Given the description of an element on the screen output the (x, y) to click on. 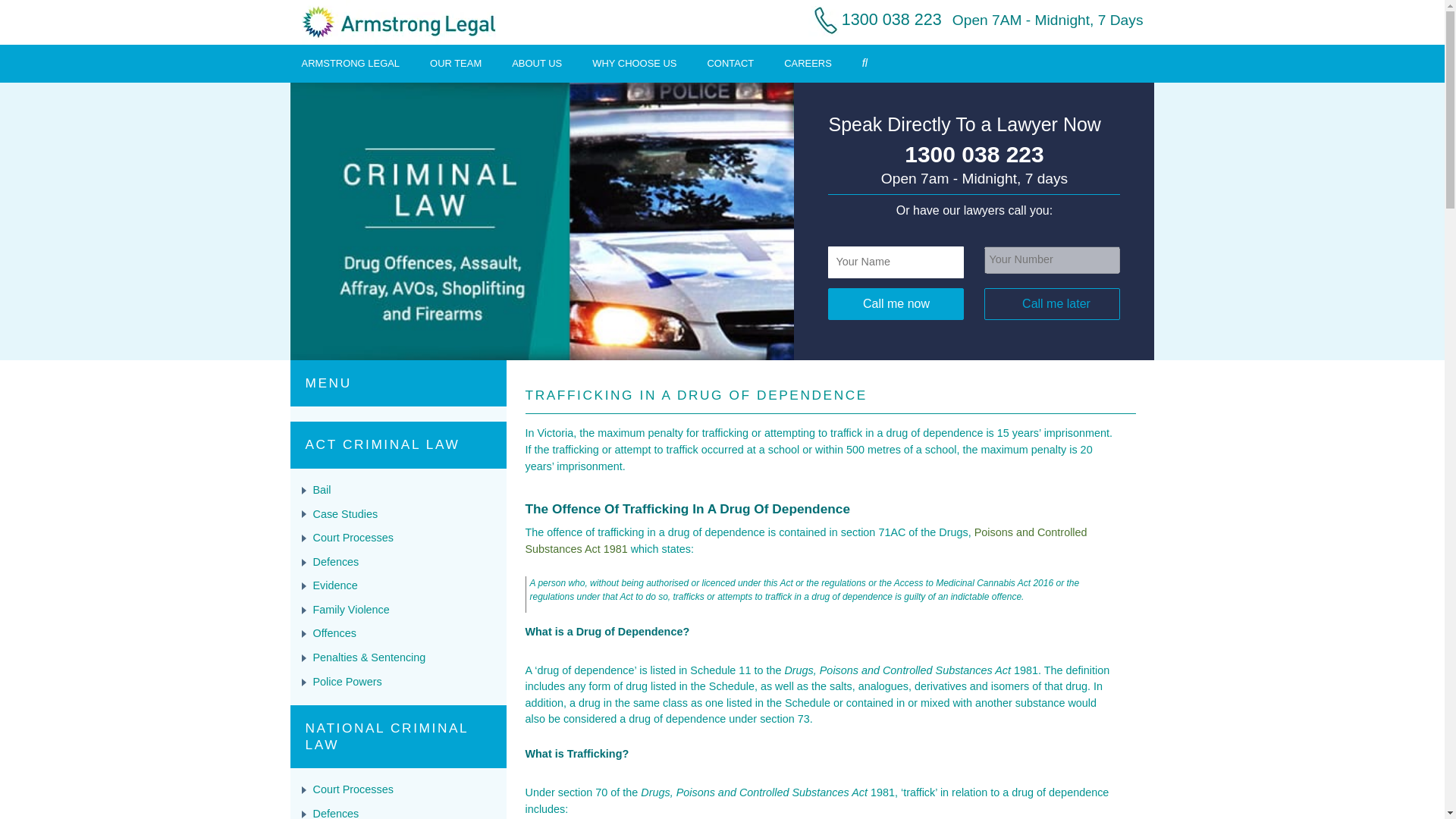
ARMSTRONG LEGAL (350, 62)
Court Processes (353, 537)
Call me now (895, 304)
1300 038 223 (973, 154)
1300 038 223 Open 7AM - Midnight, 7 Days (970, 19)
CONTACT (730, 62)
Call me now (895, 304)
Case Studies (345, 513)
WHY CHOOSE US (634, 62)
OUR TEAM (455, 62)
Bail (321, 490)
ABOUT US (537, 62)
CAREERS (807, 62)
Call me later (1051, 304)
